Given the description of an element on the screen output the (x, y) to click on. 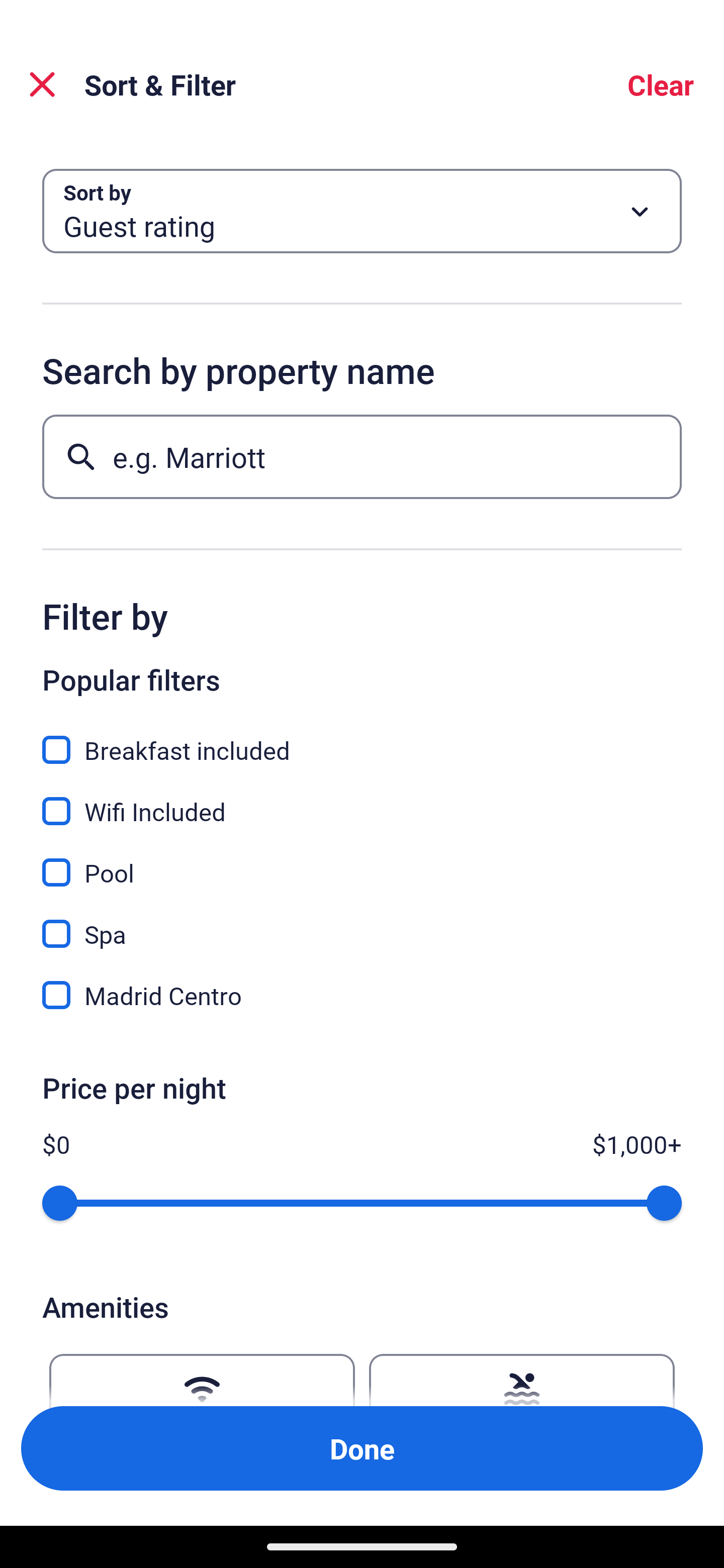
Close Sort and Filter (42, 84)
Clear (660, 84)
Sort by Button Guest rating (361, 211)
e.g. Marriott Button (361, 455)
Breakfast included, Breakfast included (361, 738)
Wifi Included, Wifi Included (361, 800)
Pool, Pool (361, 861)
Spa, Spa (361, 922)
Madrid Centro, Madrid Centro (361, 995)
Apply and close Sort and Filter Done (361, 1448)
